Given the description of an element on the screen output the (x, y) to click on. 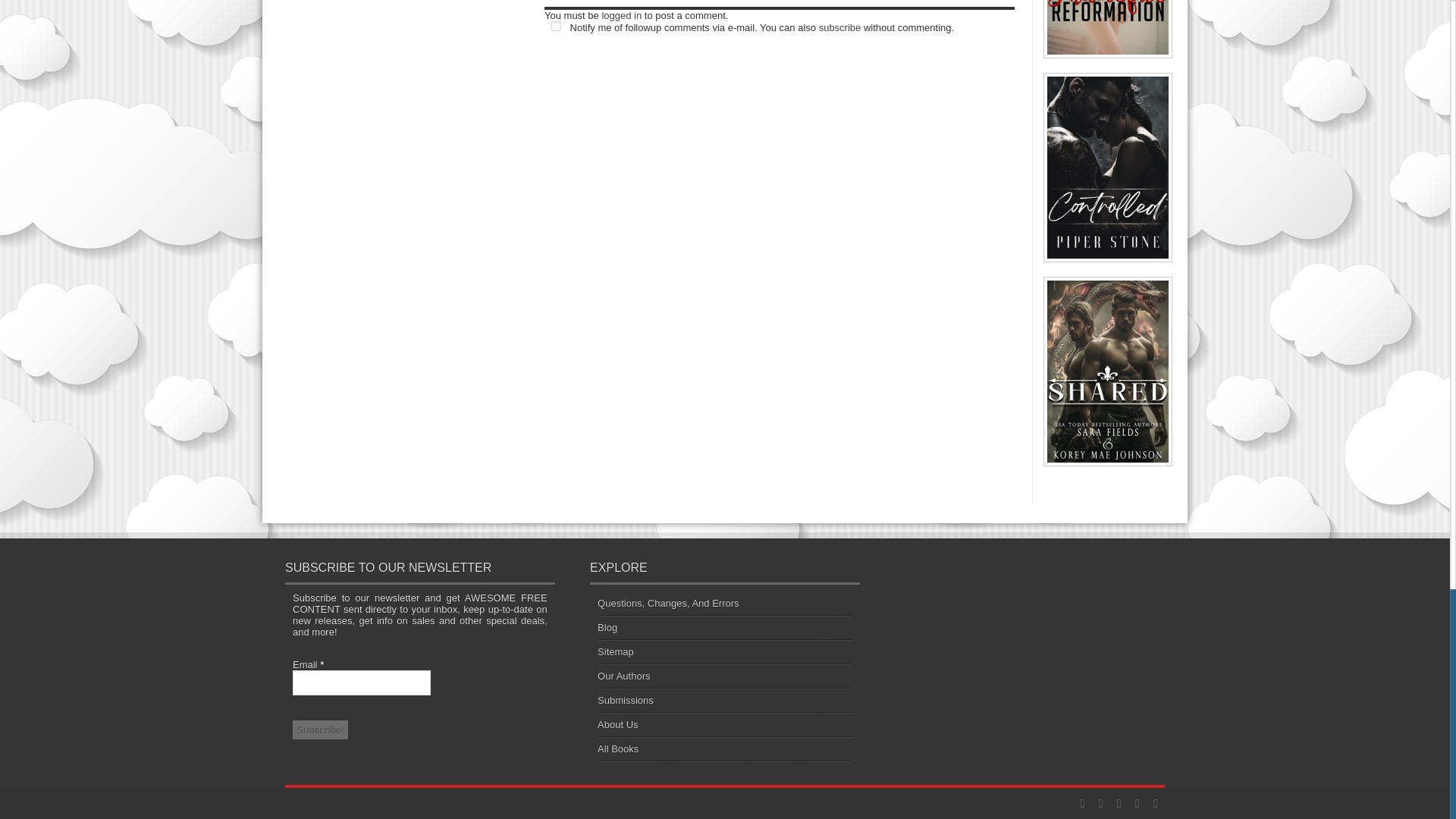
yes (555, 26)
Subscribe! (319, 729)
Email (361, 682)
